Given the description of an element on the screen output the (x, y) to click on. 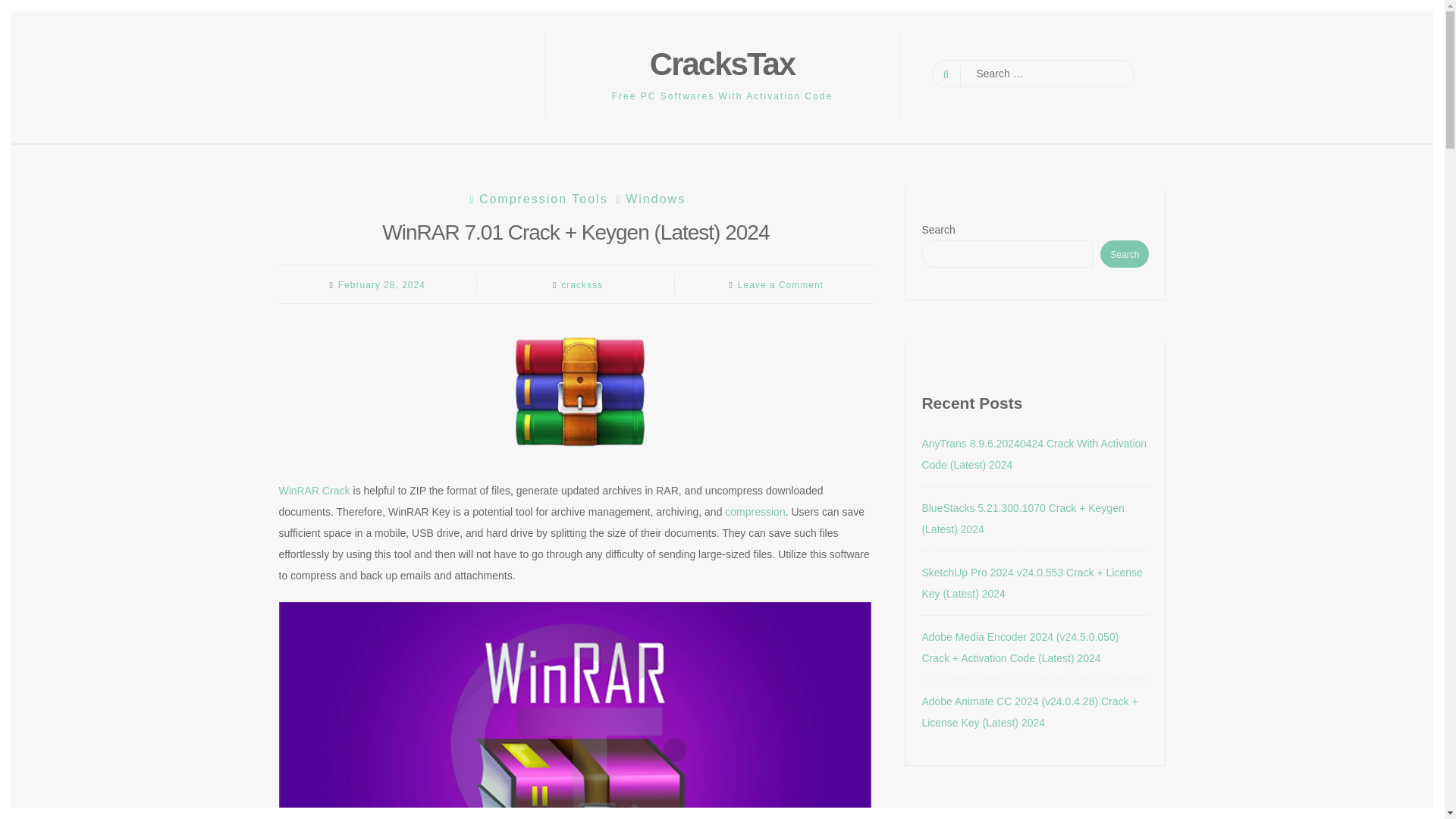
Compression Tools (536, 198)
CracksTax (721, 63)
WinRAR Crack (314, 490)
Search (24, 9)
Windows (648, 198)
cracksss (581, 285)
compression (754, 511)
